Given the description of an element on the screen output the (x, y) to click on. 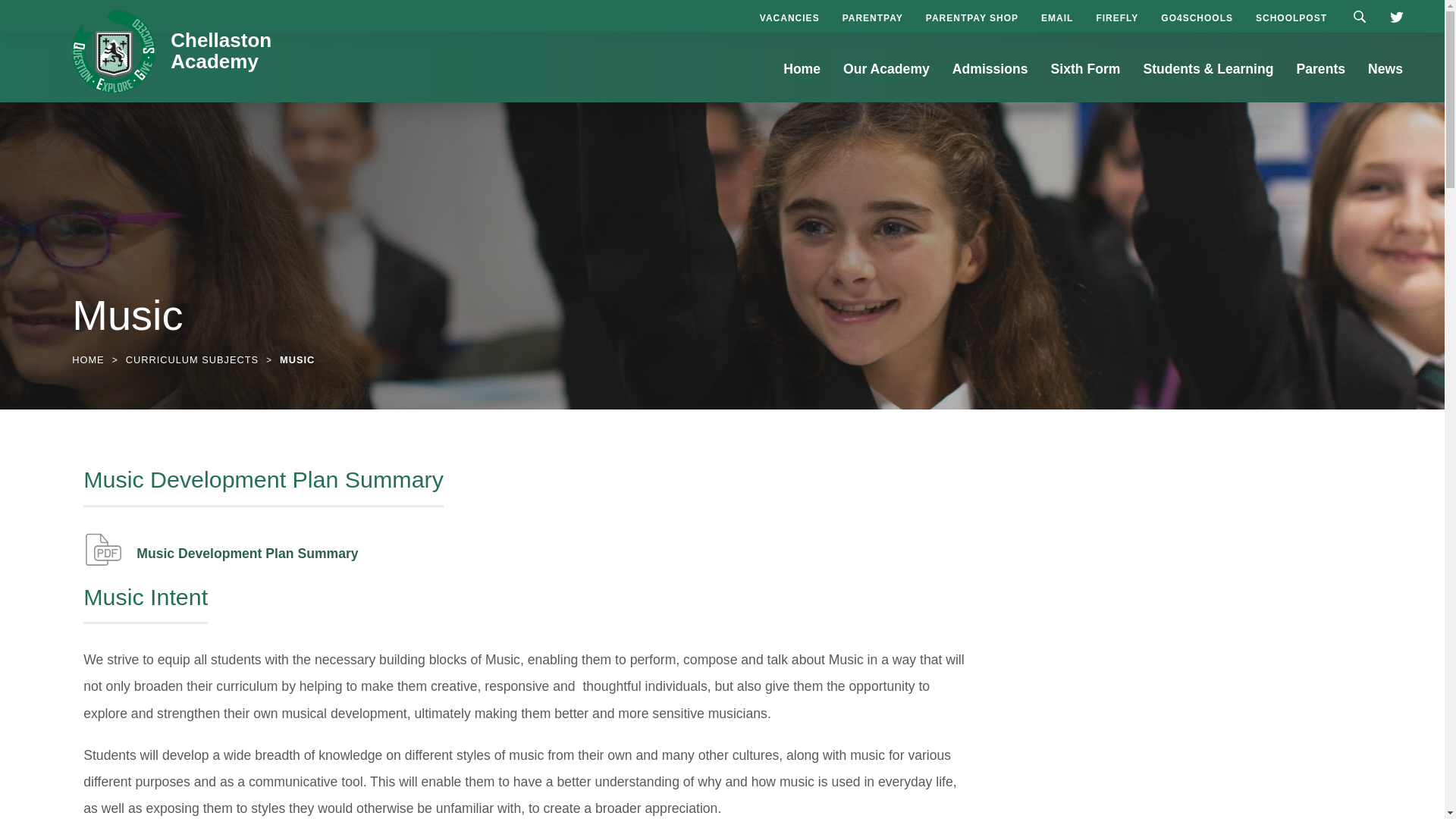
Admissions (989, 79)
Sixth Form (1086, 79)
Our Academy (886, 79)
Chellaston Academy (220, 50)
